Given the description of an element on the screen output the (x, y) to click on. 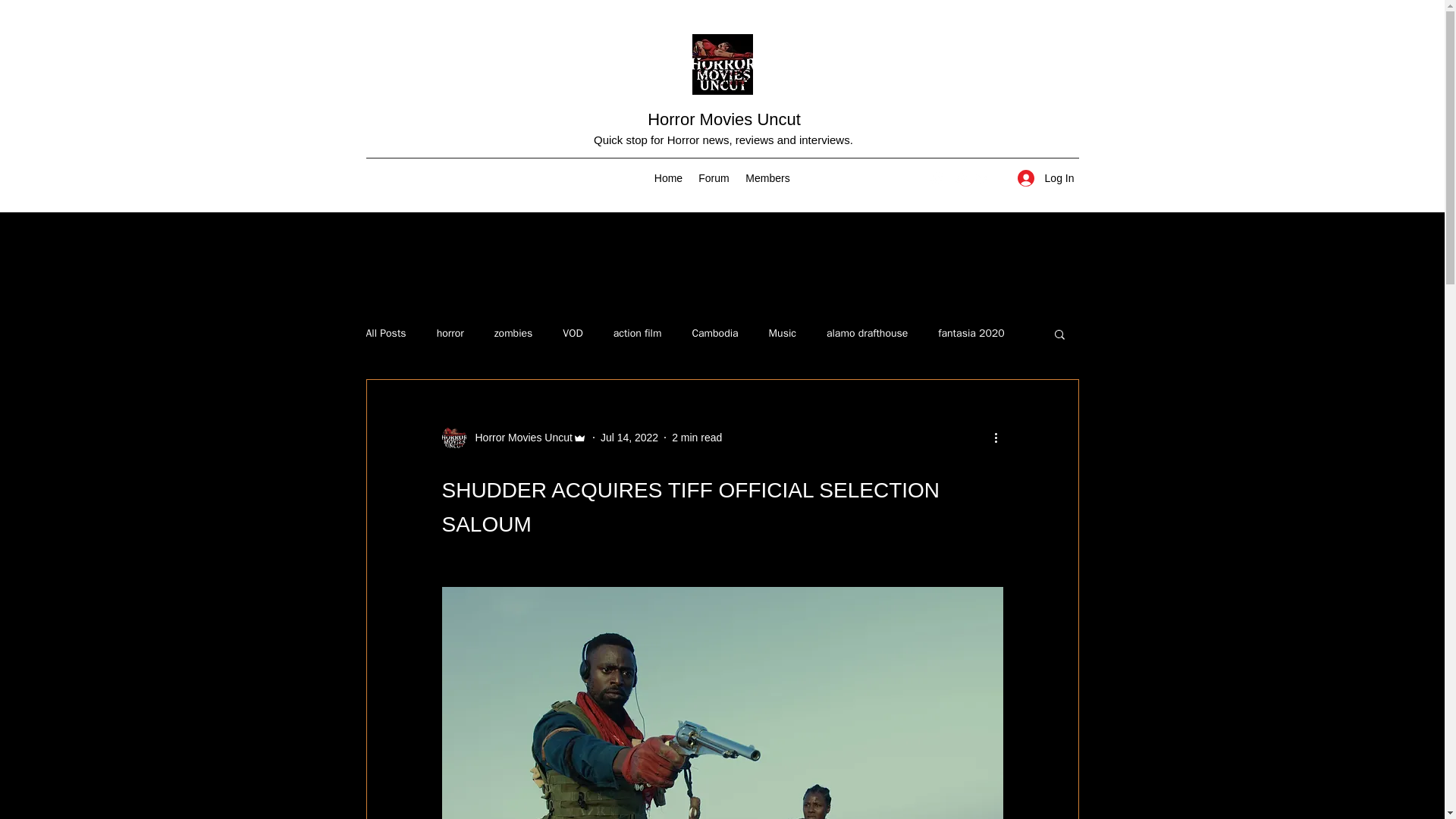
Music (782, 333)
fantasia 2020 (970, 333)
Cambodia (714, 333)
Home (668, 178)
Forum (713, 178)
Members (766, 178)
VOD (572, 333)
zombies (513, 333)
All Posts (385, 333)
action film (637, 333)
